Given the description of an element on the screen output the (x, y) to click on. 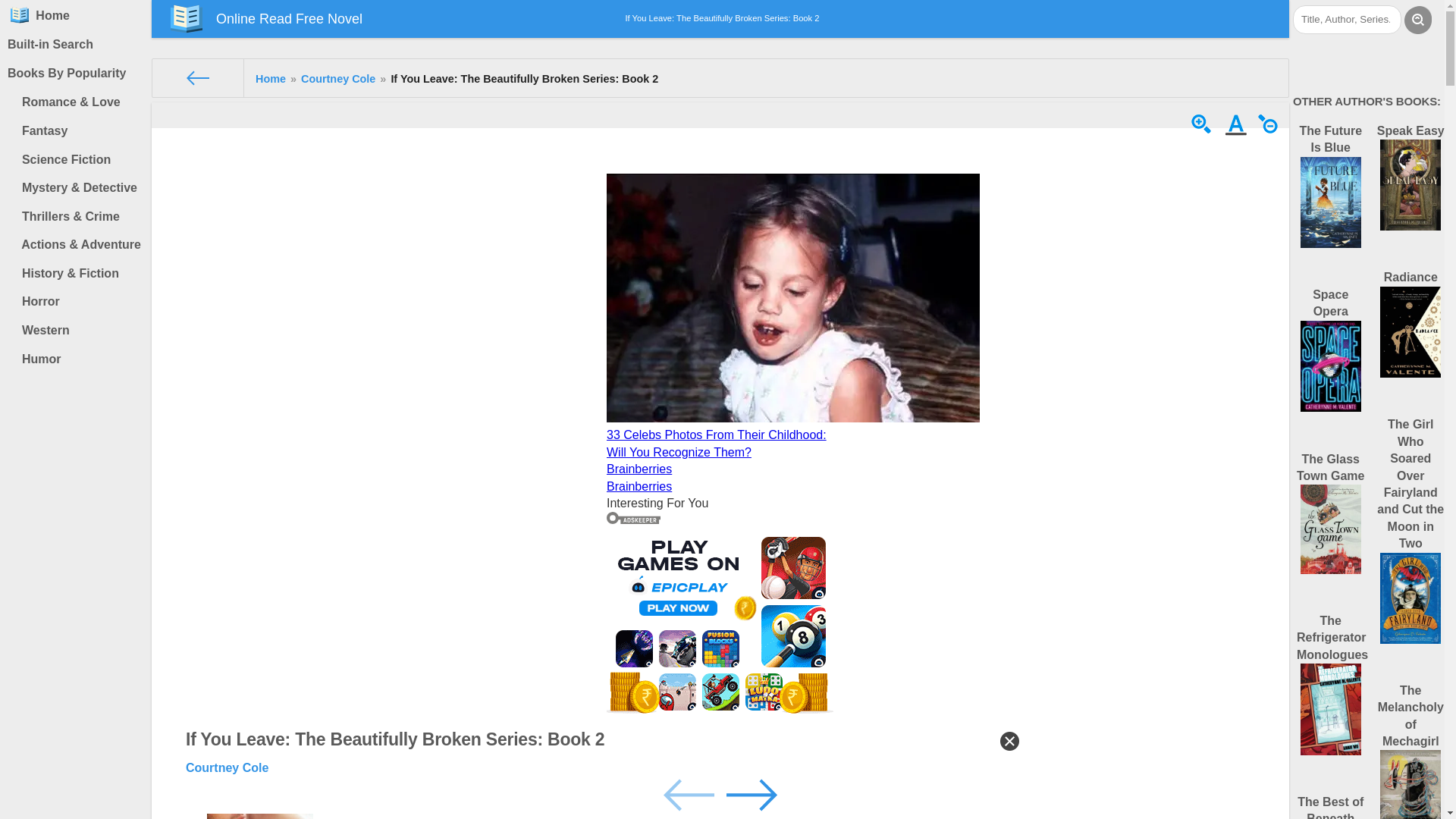
  Western (79, 330)
Reset Font Size (1237, 131)
  Horror (79, 302)
Home (270, 78)
Home (270, 78)
Next Page (751, 793)
Built-in Search (75, 44)
  Humor (79, 358)
Courtney Cole (338, 78)
  Science Fiction (79, 159)
Larger Font (1202, 131)
  Fantasy (79, 131)
